Given the description of an element on the screen output the (x, y) to click on. 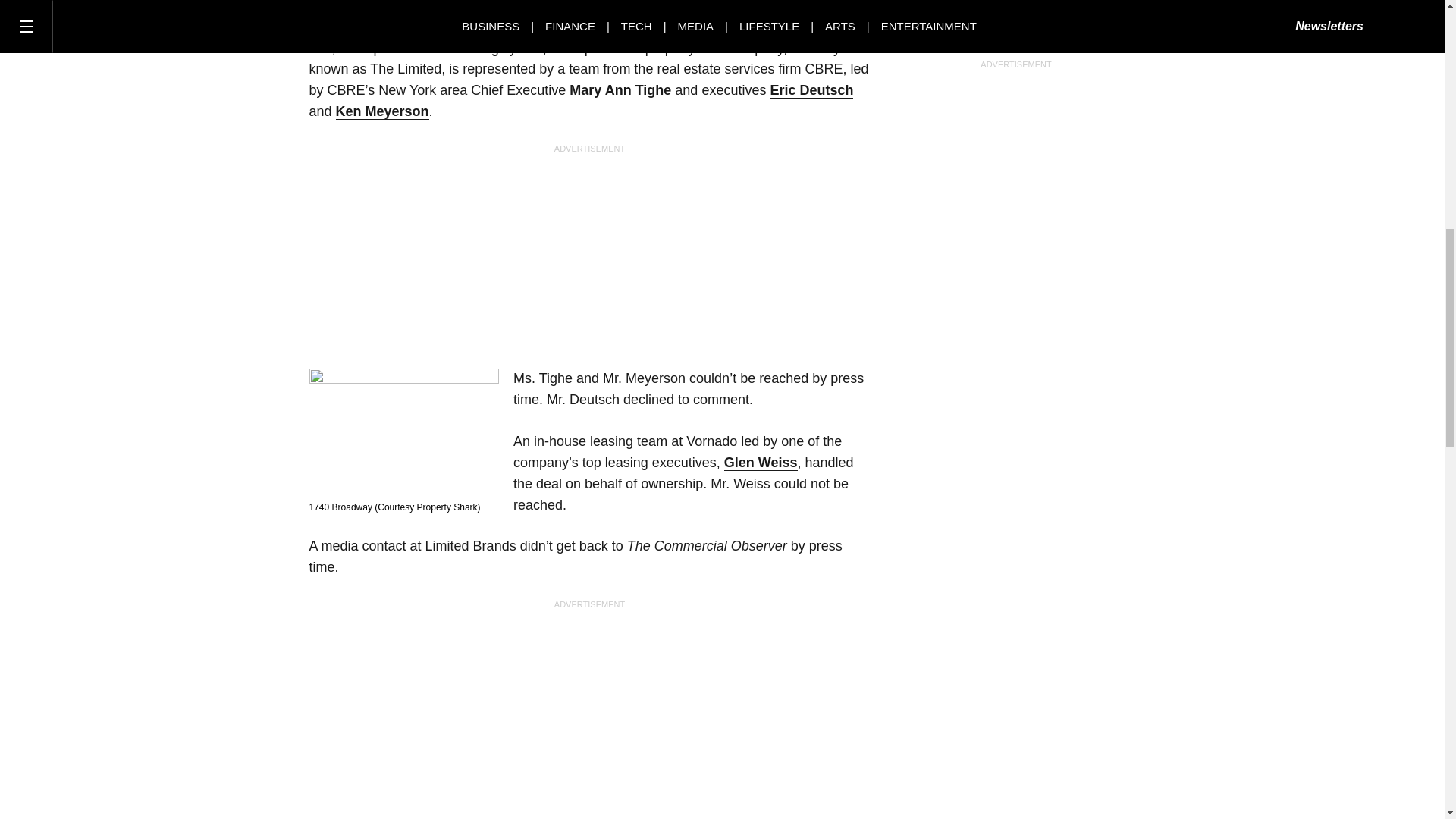
1740 Broadway (403, 432)
Ken Meyerson (382, 111)
Eric Deutsch (811, 90)
Glen Weiss (760, 462)
